Given the description of an element on the screen output the (x, y) to click on. 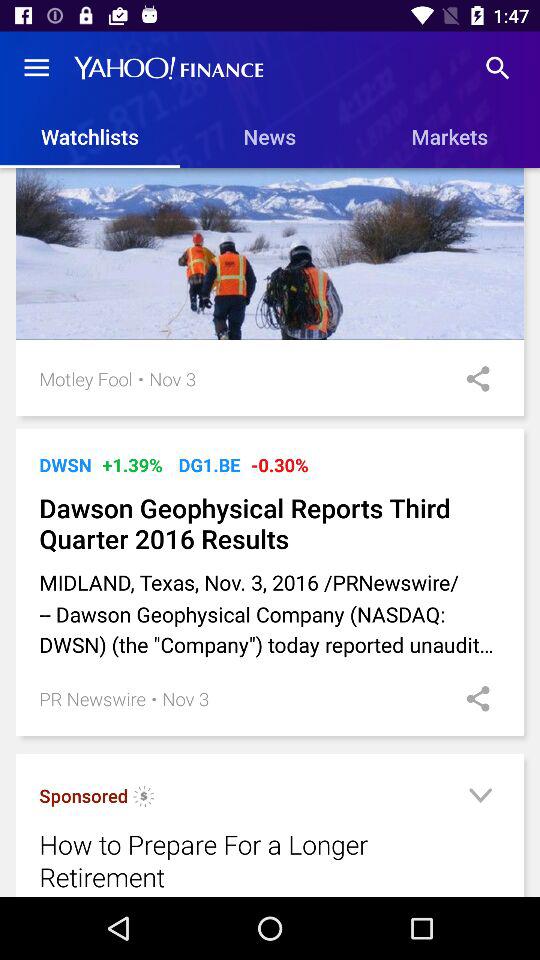
choose the item above the dwsn (273, 427)
